Given the description of an element on the screen output the (x, y) to click on. 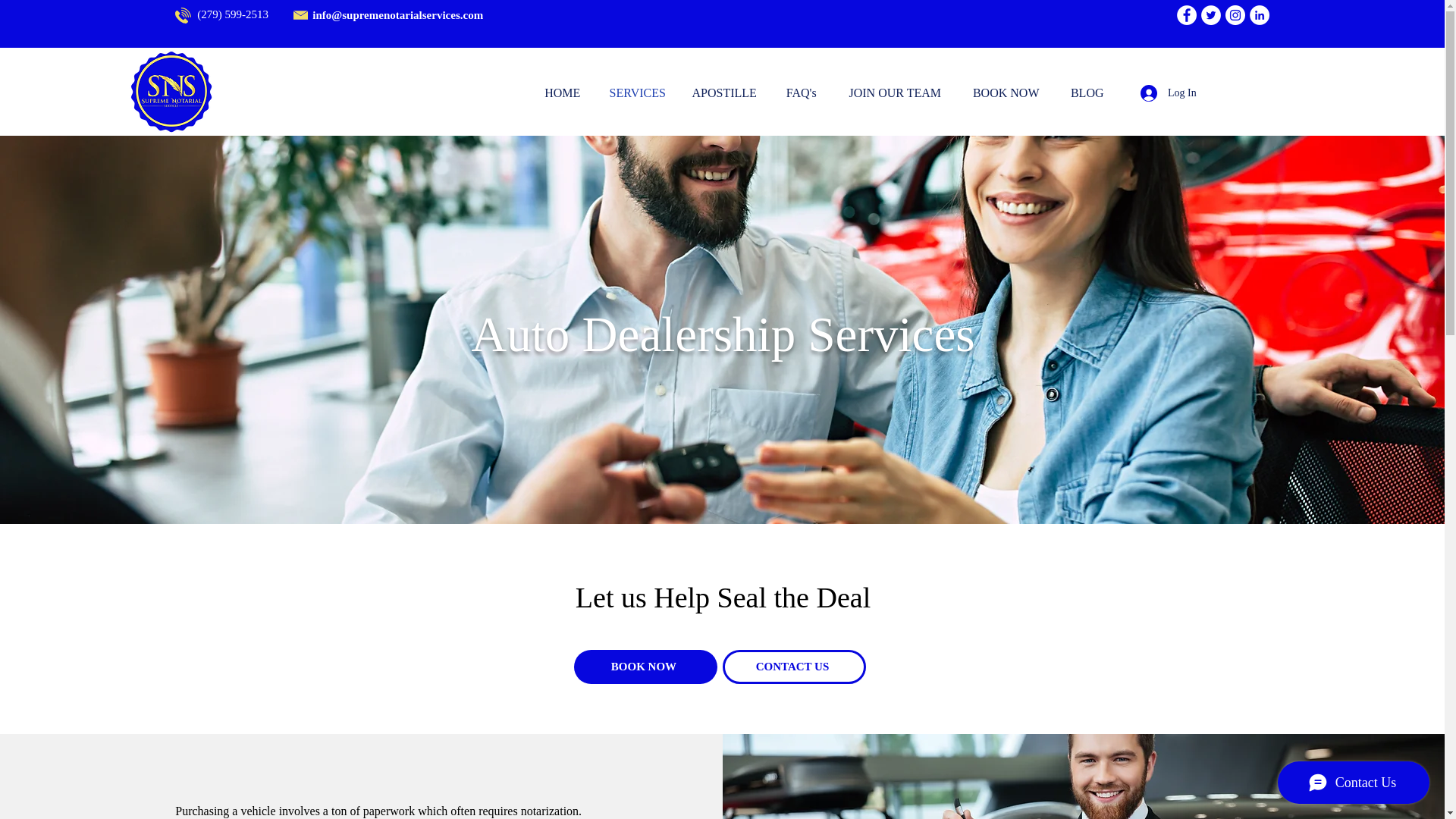
APOSTILLE (724, 93)
BOOK NOW (644, 666)
JOIN OUR TEAM (894, 93)
BLOG (1087, 93)
Log In (1168, 93)
SERVICES (637, 93)
HOME (562, 93)
CONTACT US (793, 666)
BOOK NOW (1005, 93)
FAQ's (801, 93)
